Given the description of an element on the screen output the (x, y) to click on. 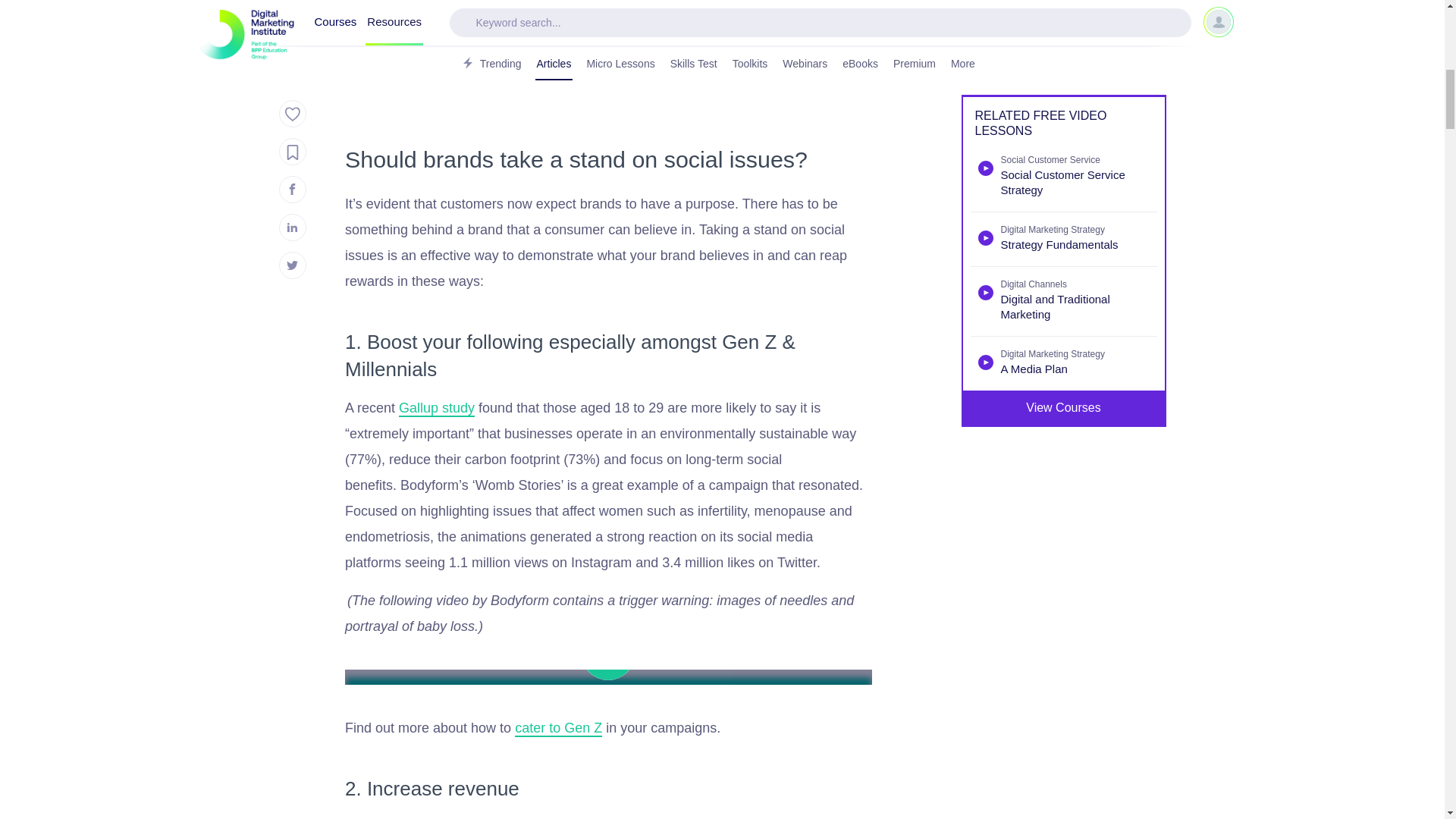
Gallup study (436, 408)
social media channels (588, 18)
cater to Gen Z (558, 728)
